Given the description of an element on the screen output the (x, y) to click on. 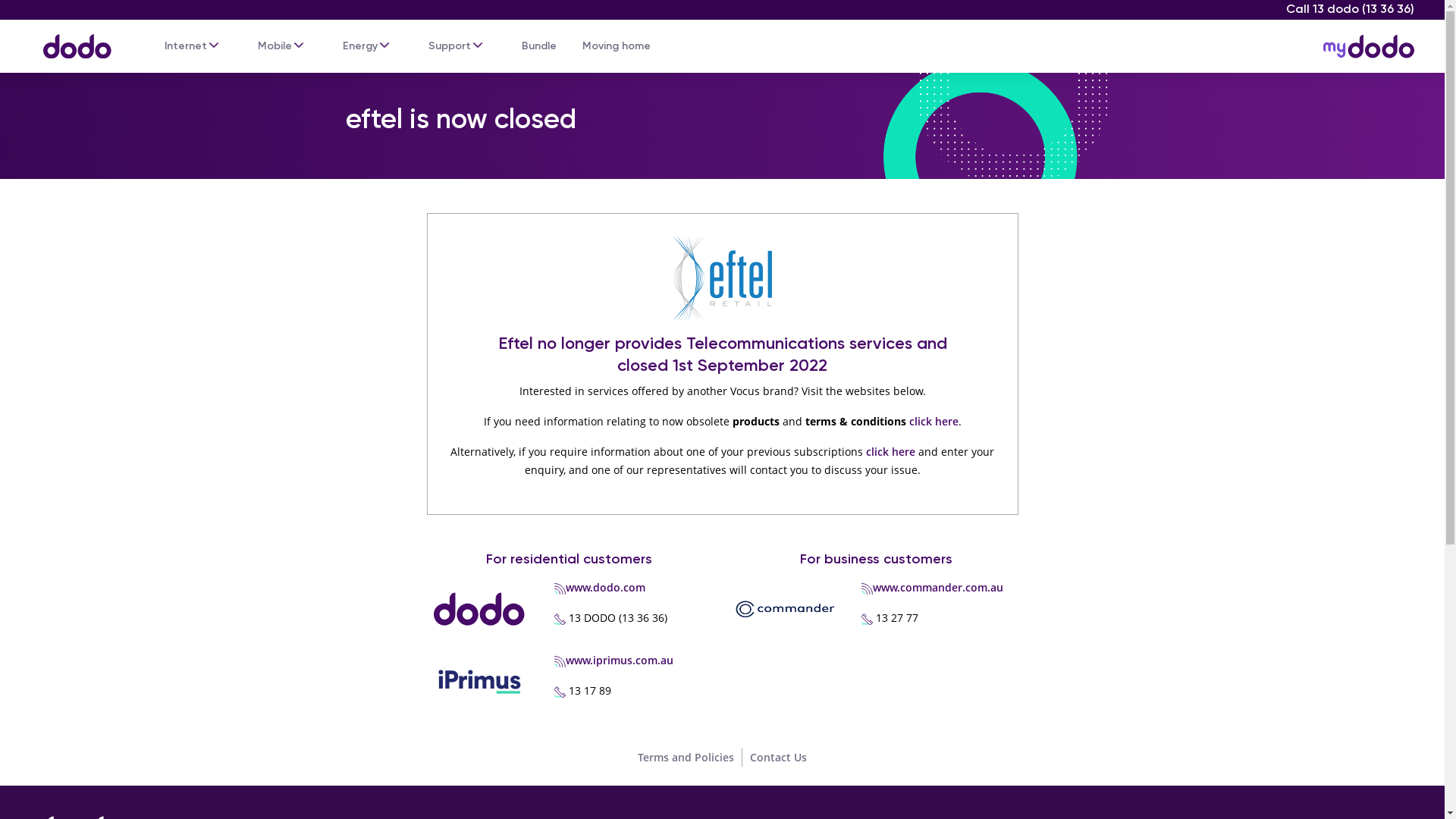
click here Element type: text (890, 451)
Bundle Element type: text (538, 45)
Energy Element type: text (359, 45)
Home Element type: hover (69, 38)
Moving home Element type: text (616, 45)
Internet Element type: text (185, 45)
www.commander.com.au Element type: text (937, 587)
Terms and Policies Element type: text (685, 756)
www.iprimus.com.au Element type: text (619, 659)
www.dodo.com Element type: text (605, 587)
click here Element type: text (932, 421)
Call 13 dodo (13 36 36) Element type: text (1350, 9)
Support Element type: text (449, 45)
Contact Us Element type: text (777, 756)
Mobile Element type: text (274, 45)
Skip to main content Element type: text (721, 1)
